Given the description of an element on the screen output the (x, y) to click on. 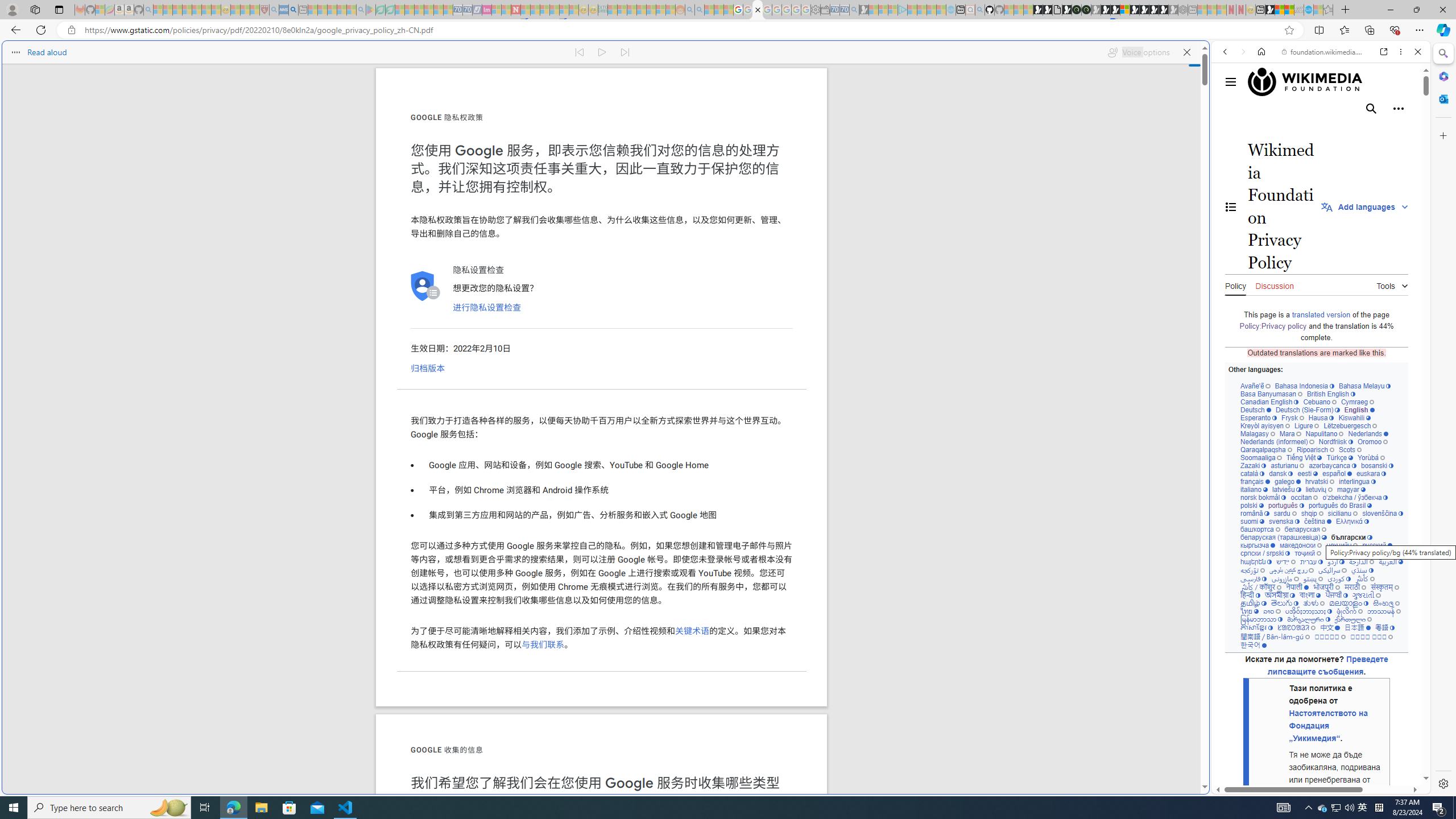
Cebuano (1319, 401)
bosanski (1376, 465)
Cymraeg (1357, 401)
